Given the description of an element on the screen output the (x, y) to click on. 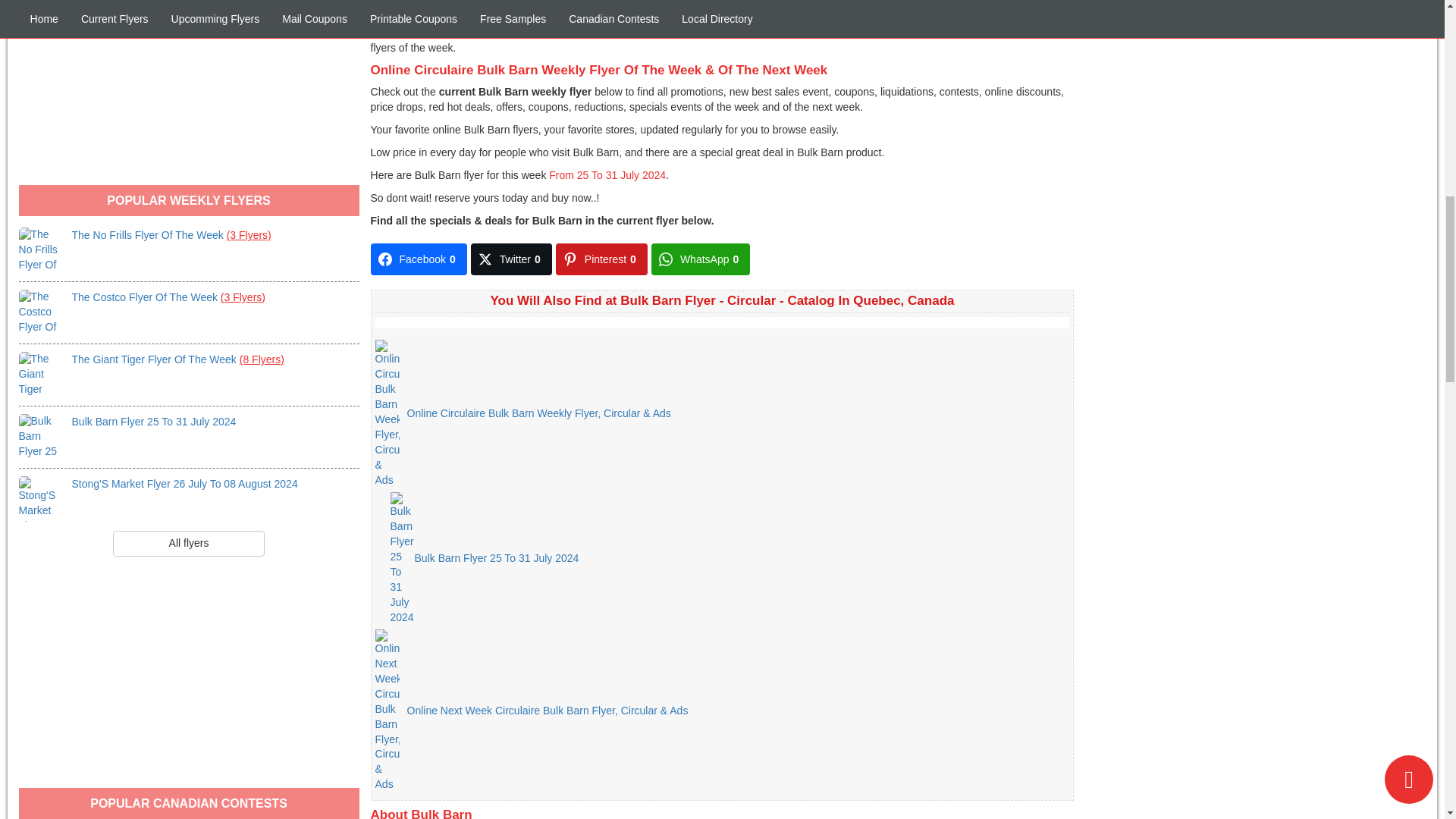
Stong'S Market Flyer 26 July To 08 August 2024 (41, 498)
Stong'S Market Flyer 26 July To 08 August 2024 (184, 483)
Stong'S Market Flyer 26 July To 08 August 2024 (184, 483)
Bulk Barn Flyer 25 To 31 July 2024 (153, 421)
All flyers (188, 543)
Bulk Barn Flyer 25 To 31 July 2024 (41, 436)
Bulk Barn Flyer 25 To 31 July 2024 (153, 421)
